Given the description of an element on the screen output the (x, y) to click on. 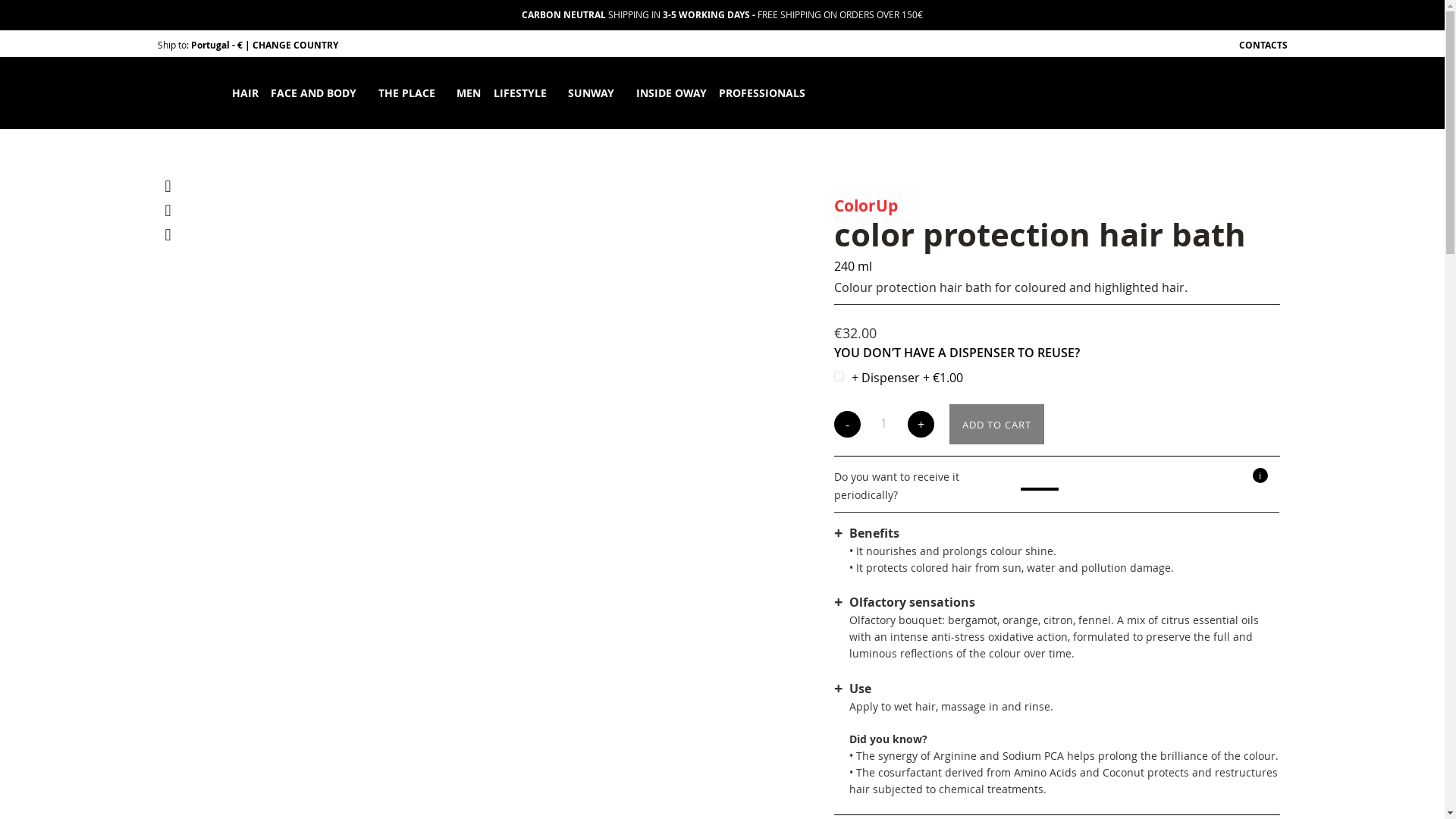
THE PLACE (406, 92)
1 (883, 422)
Qty (883, 422)
CHANGE COUNTRY (294, 44)
CONTACTS (1263, 44)
9 (839, 376)
